Given the description of an element on the screen output the (x, y) to click on. 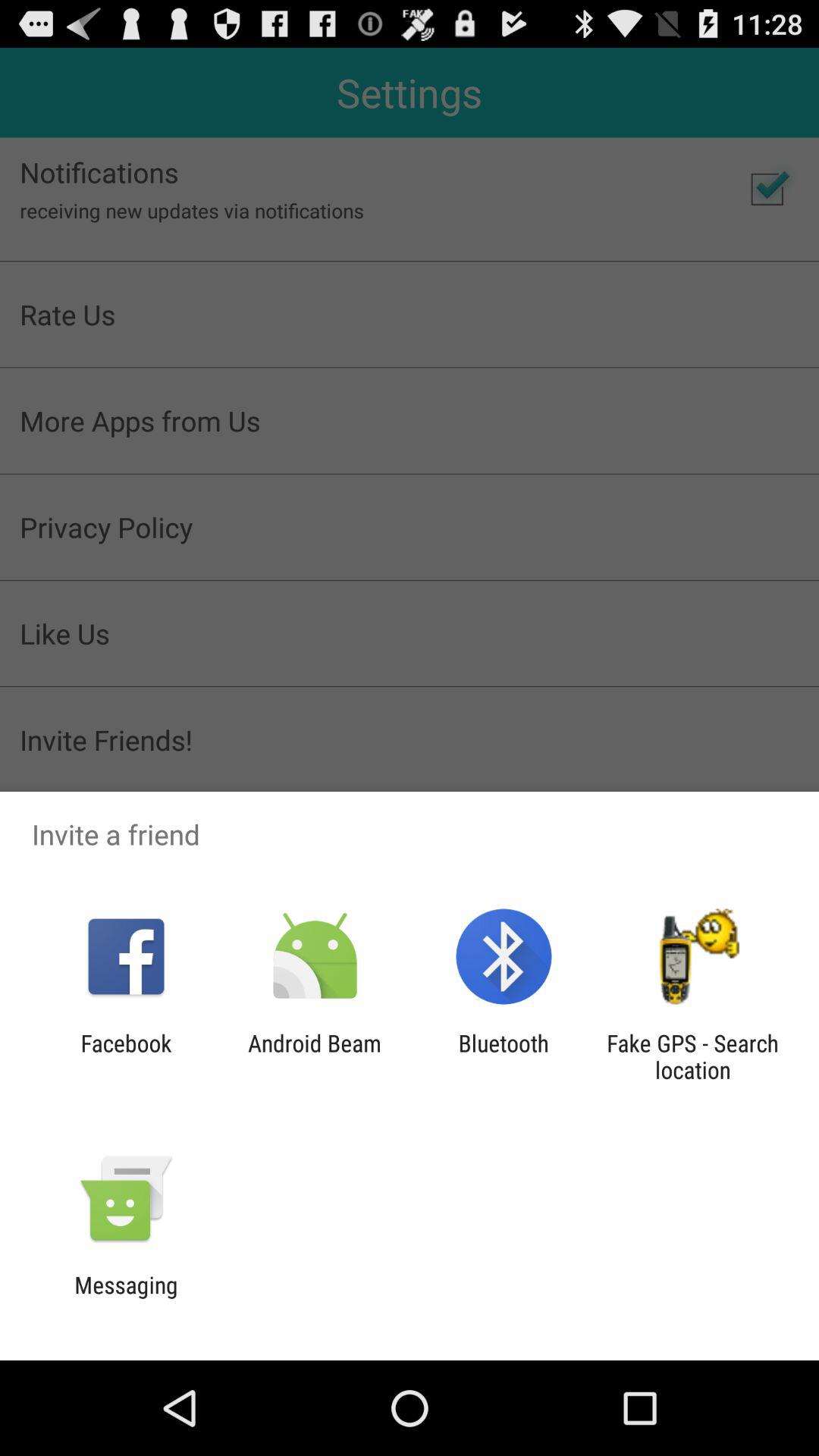
jump to the bluetooth (503, 1056)
